Given the description of an element on the screen output the (x, y) to click on. 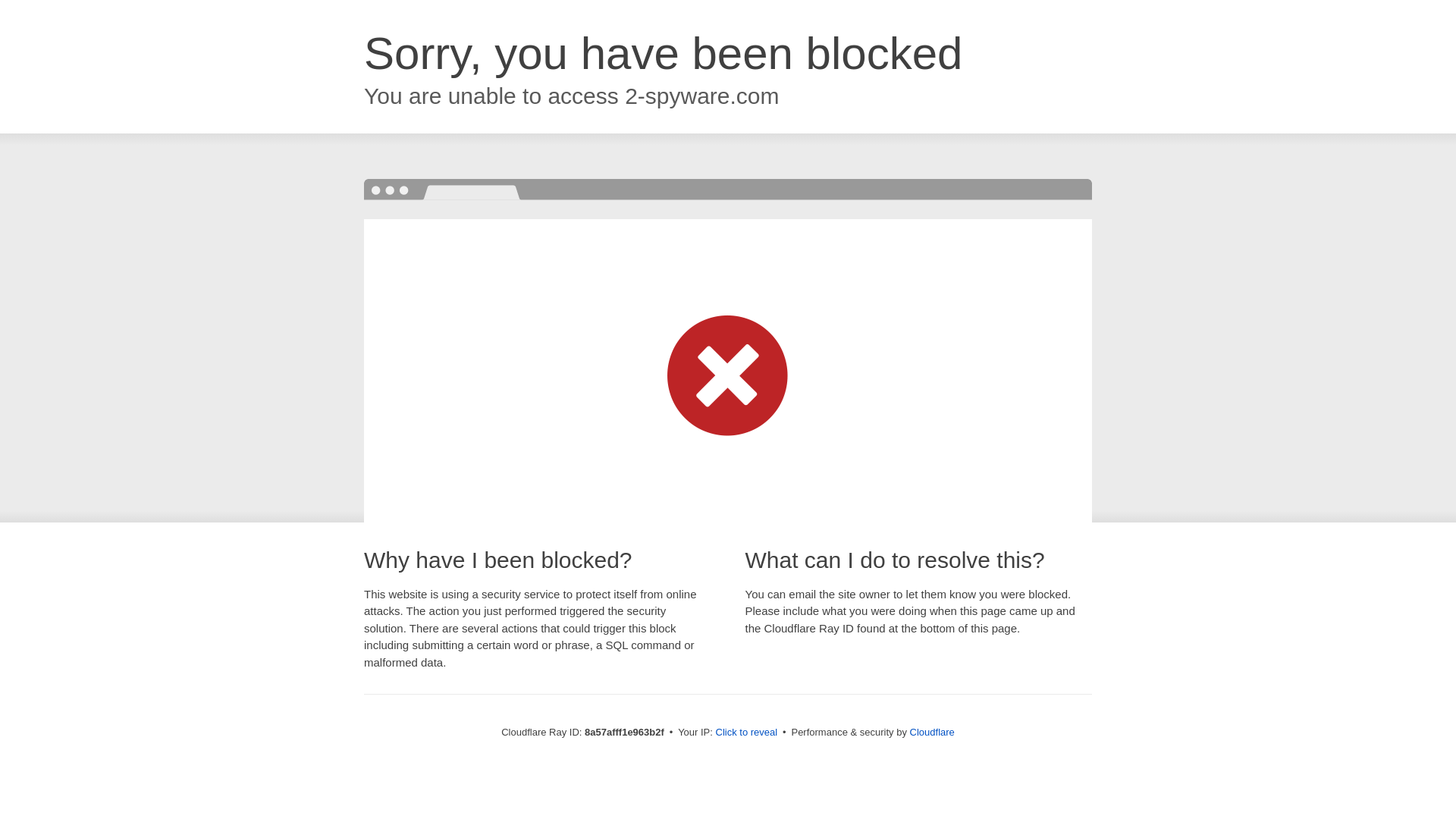
Click to reveal (746, 732)
Cloudflare (932, 731)
